Given the description of an element on the screen output the (x, y) to click on. 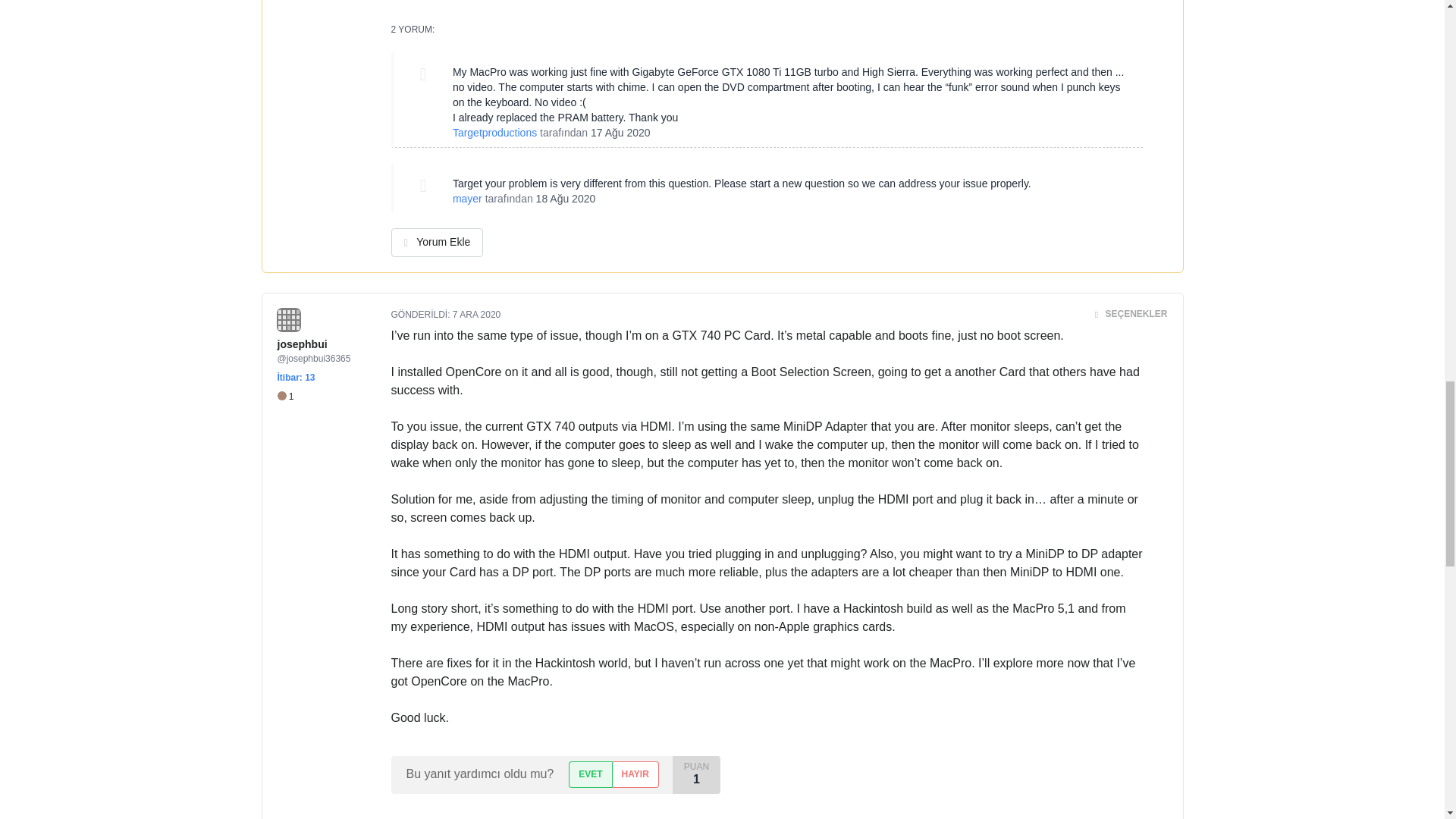
1 Bronz rozeti (286, 396)
Mon, 07 Dec 2020 23:14:26 -0700 (476, 314)
Mon, 17 Aug 2020 23:15:59 -0700 (620, 132)
Tue, 18 Aug 2020 17:46:26 -0700 (565, 198)
